Given the description of an element on the screen output the (x, y) to click on. 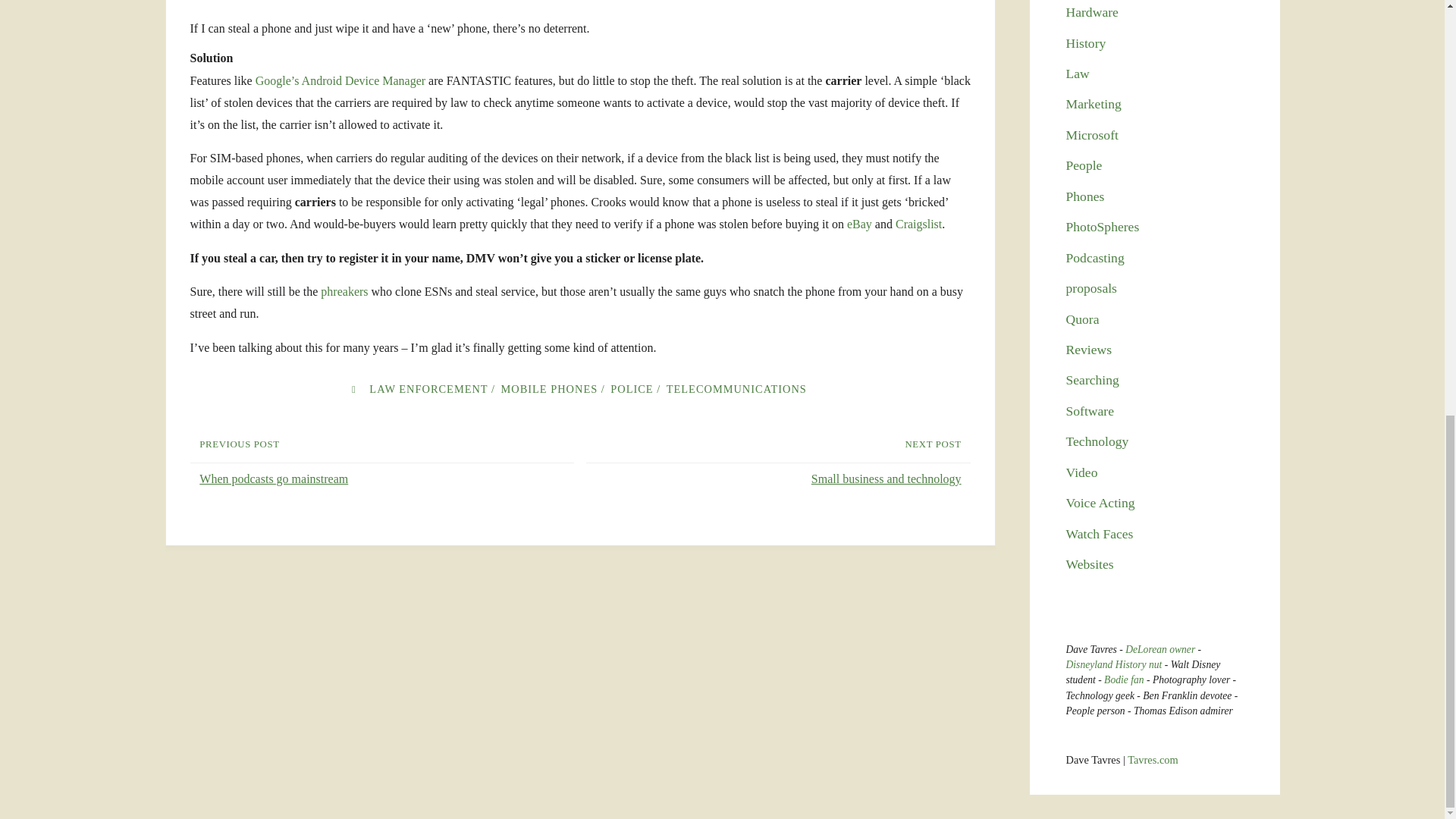
Bodie fan (1122, 679)
Tavres.com (1151, 759)
Marketing (1093, 103)
Podcasting (1094, 257)
Law (1077, 73)
Tavres.com (1151, 759)
PhotoSpheres (1102, 226)
Tagged (353, 388)
proposals (1090, 287)
Voice Acting (1100, 502)
People (1083, 165)
Phones (1085, 196)
Searching (1092, 379)
Disneyland History nut (1113, 664)
DeLorean owner (1160, 649)
